Given the description of an element on the screen output the (x, y) to click on. 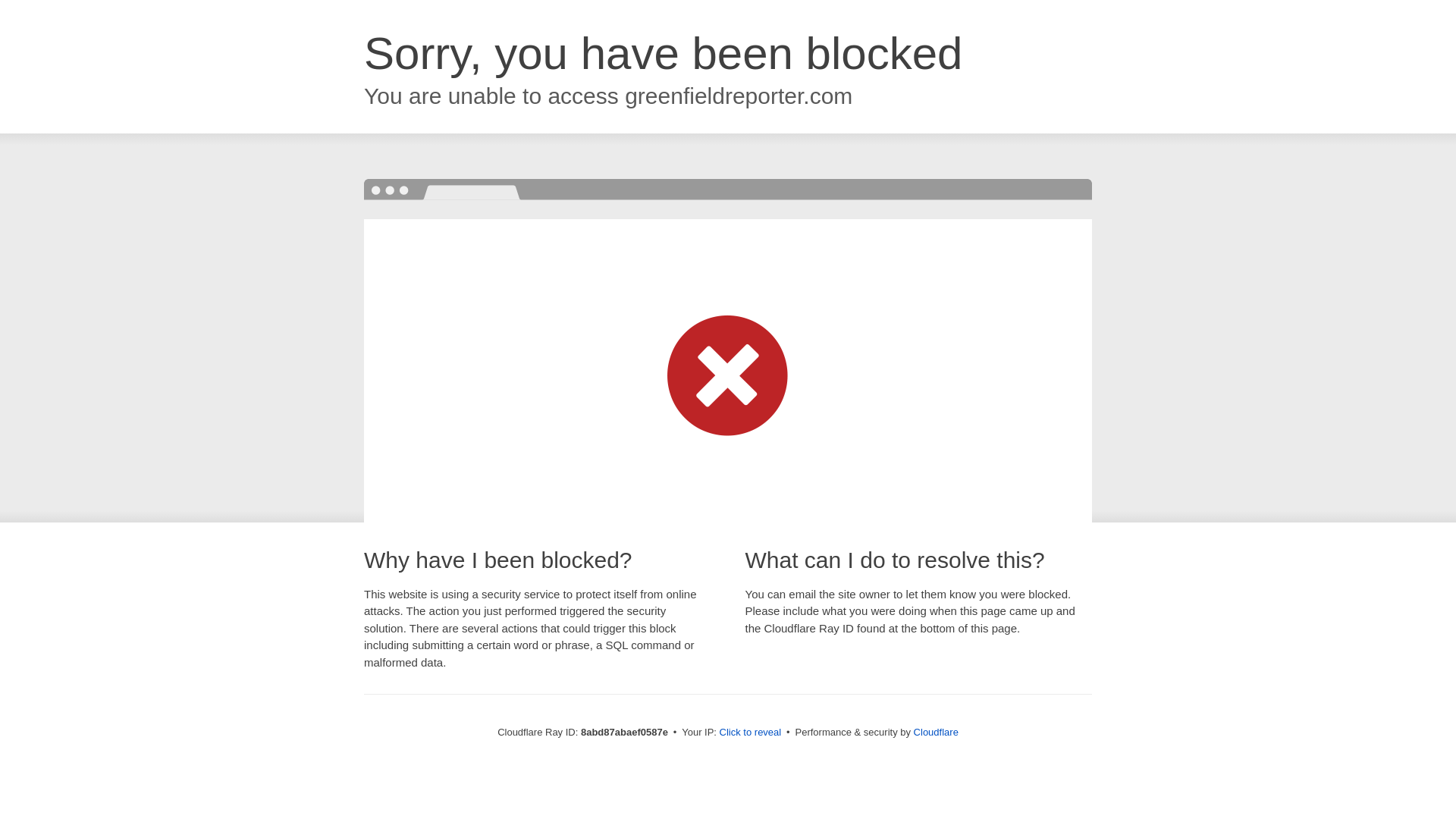
Click to reveal (750, 732)
Cloudflare (936, 731)
